Given the description of an element on the screen output the (x, y) to click on. 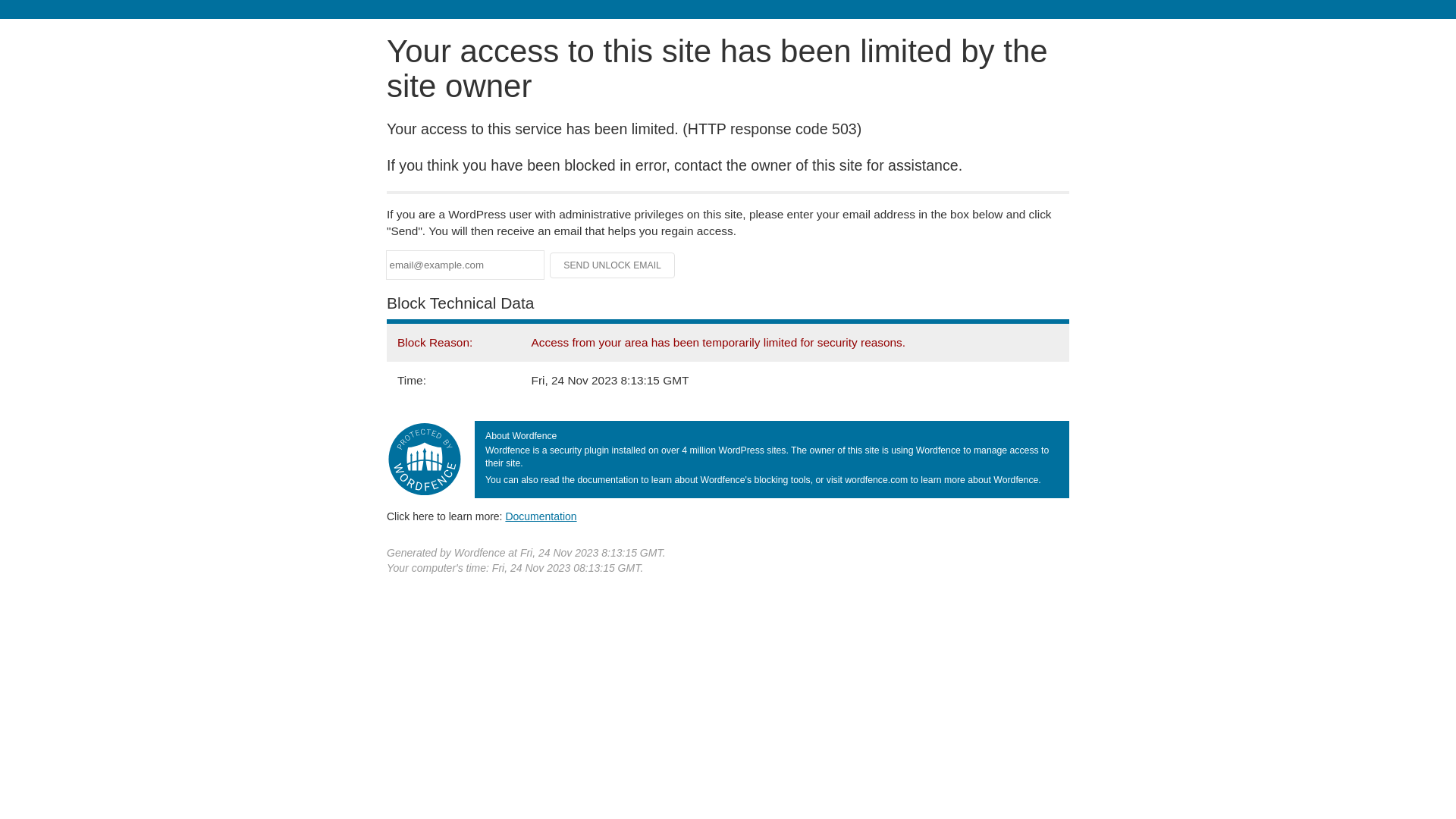
Documentation Element type: text (540, 516)
Send Unlock Email Element type: text (612, 265)
